Given the description of an element on the screen output the (x, y) to click on. 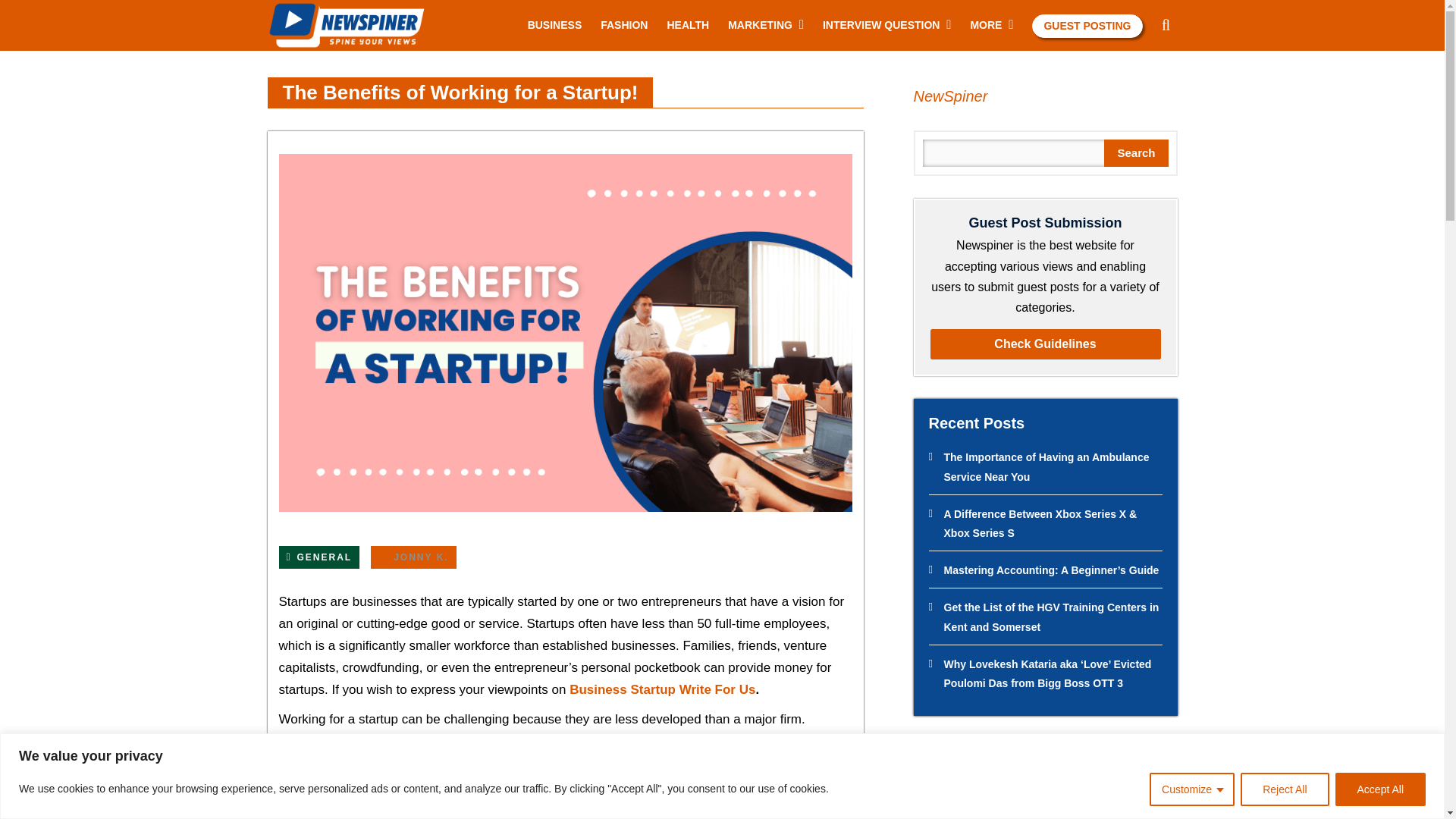
HEALTH (687, 24)
BUSINESS (554, 24)
Customize (1192, 788)
Accept All (1380, 788)
Reject All (1283, 788)
MARKETING (760, 24)
Jonny K. (413, 557)
GUEST POSTING (1087, 25)
MORE (985, 24)
INTERVIEW QUESTION (881, 24)
